Given the description of an element on the screen output the (x, y) to click on. 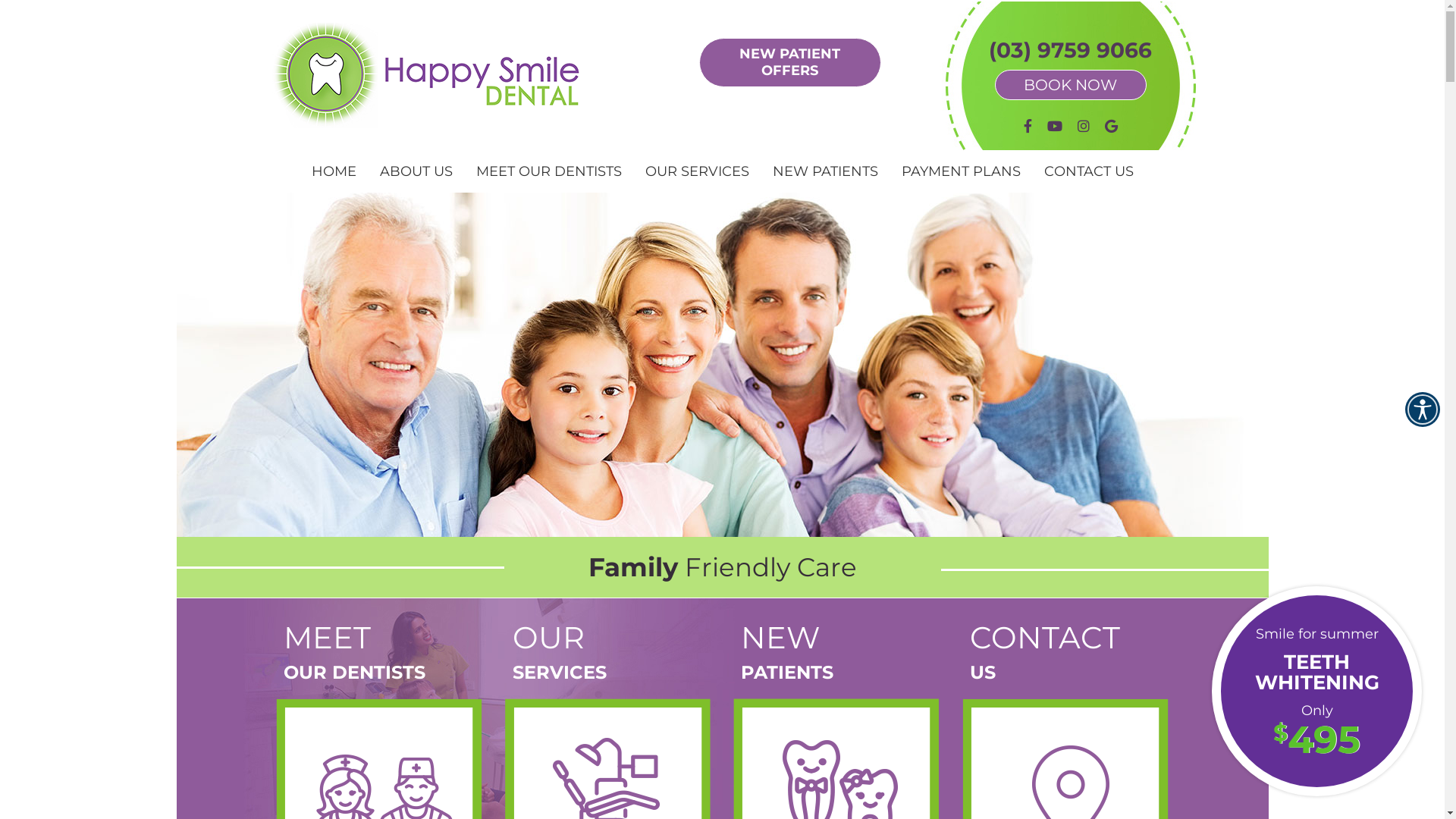
OUR SERVICES Element type: text (697, 171)
ABOUT US Element type: text (416, 171)
NEW PATIENT OFFERS Element type: text (790, 62)
Happy Smile Dental Element type: text (427, 122)
Smile for summer
TEETH WHITENING
Only
$495 Element type: text (1316, 691)
youtube icon link Element type: text (1053, 126)
MEET OUR DENTISTS Element type: text (548, 171)
instagram icon link Element type: text (1082, 126)
google icon link Element type: text (1110, 126)
BOOK NOW Element type: text (1070, 84)
NEW PATIENTS Element type: text (825, 171)
facebook icon link Element type: text (1027, 126)
CONTACT US Element type: text (1088, 171)
PAYMENT PLANS Element type: text (961, 171)
HOME Element type: text (334, 171)
